Given the description of an element on the screen output the (x, y) to click on. 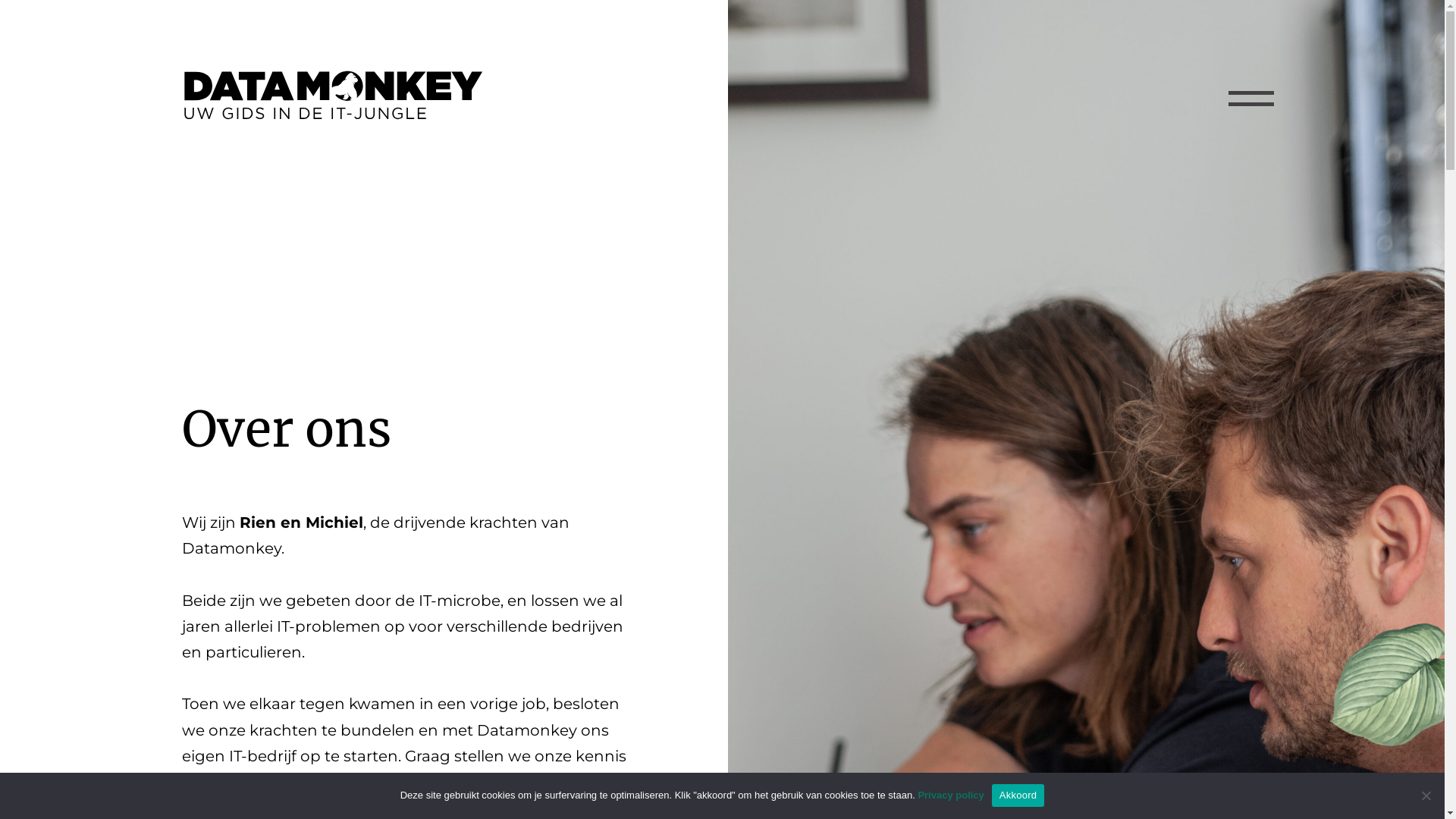
Privacy policy Element type: text (950, 794)
Akkoord Element type: text (1017, 795)
No Element type: hover (1425, 795)
